Given the description of an element on the screen output the (x, y) to click on. 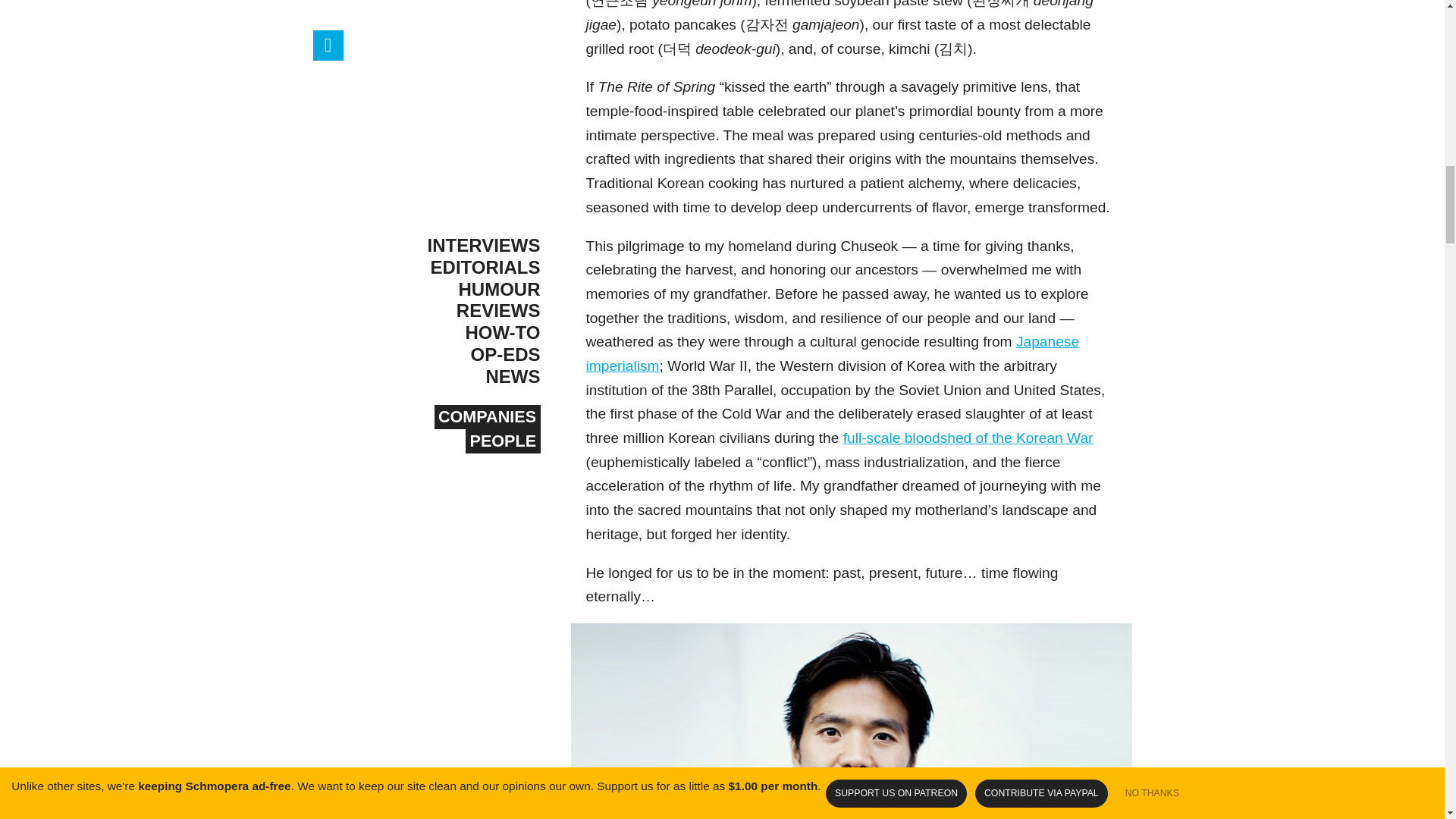
Japanese imperialism (831, 353)
full-scale bloodshed of the Korean War (968, 437)
